Given the description of an element on the screen output the (x, y) to click on. 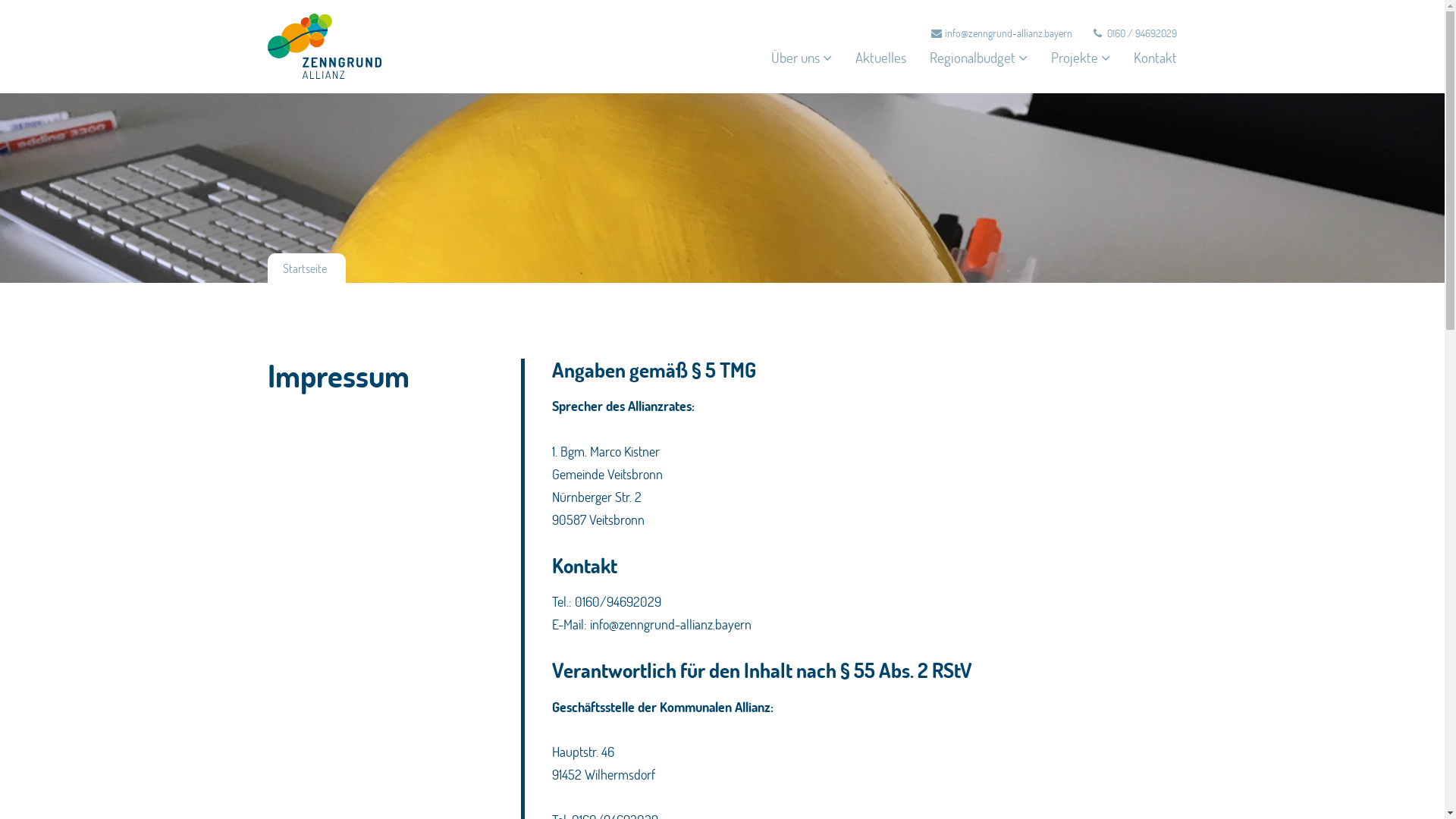
Projekte Element type: text (1080, 69)
Regionalbudget Element type: text (978, 69)
info@zenngrund-allianz.bayern Element type: text (1001, 32)
0160 / 94692029 Element type: text (1134, 32)
Zenngrund Allianz Element type: hover (346, 46)
Aktuelles Element type: text (880, 69)
Kontakt Element type: text (1154, 69)
Startseite Element type: text (304, 268)
